Given the description of an element on the screen output the (x, y) to click on. 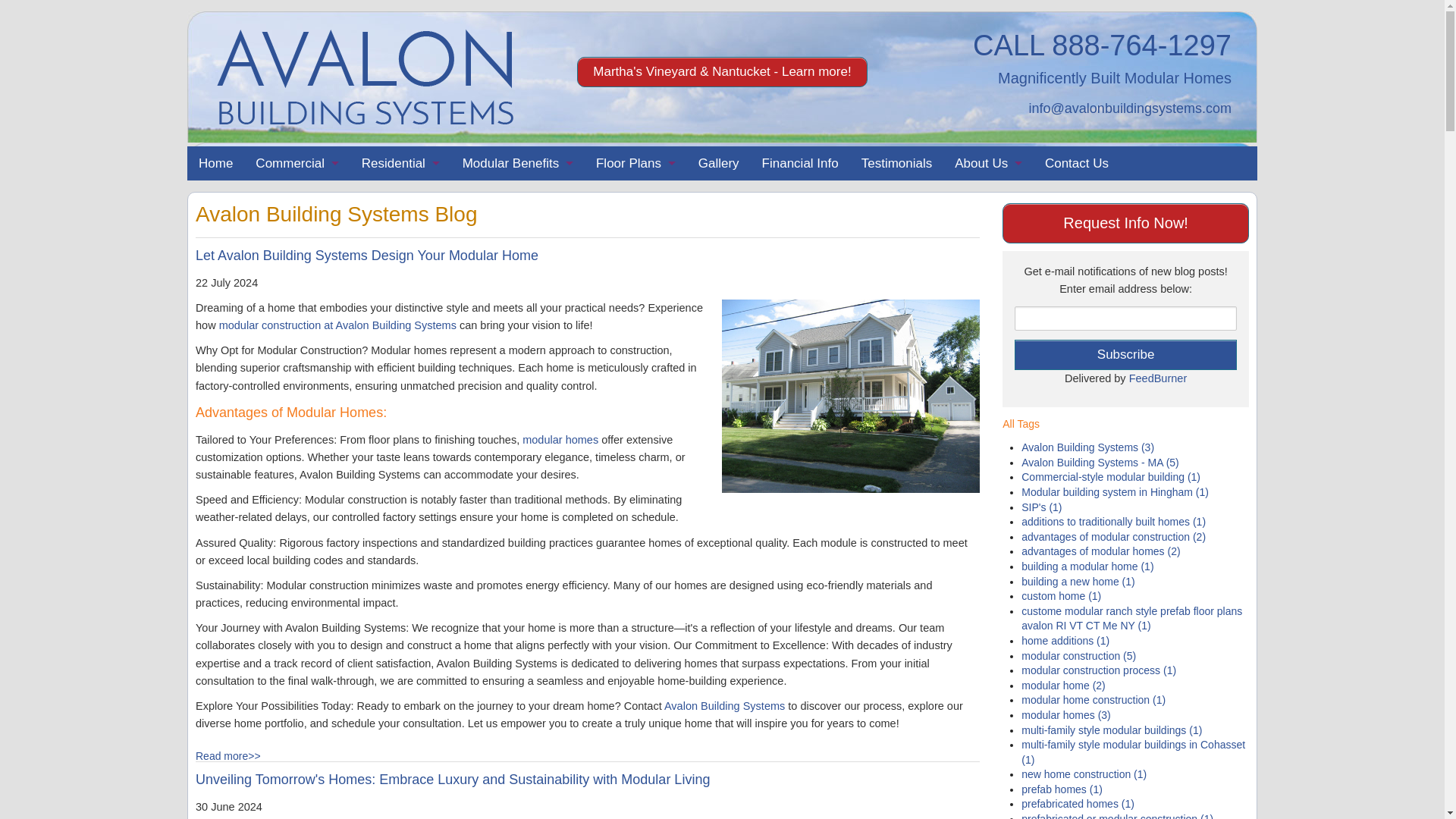
Residential (400, 163)
Subscribe (1125, 354)
Home (215, 163)
Financial Info (800, 163)
Gallery (719, 163)
Commercial (296, 163)
Modular Homes Boston MA, Prefabricated Homes (365, 77)
Modular Benefits (518, 163)
Floor Plans (636, 163)
Testimonials (896, 163)
